Given the description of an element on the screen output the (x, y) to click on. 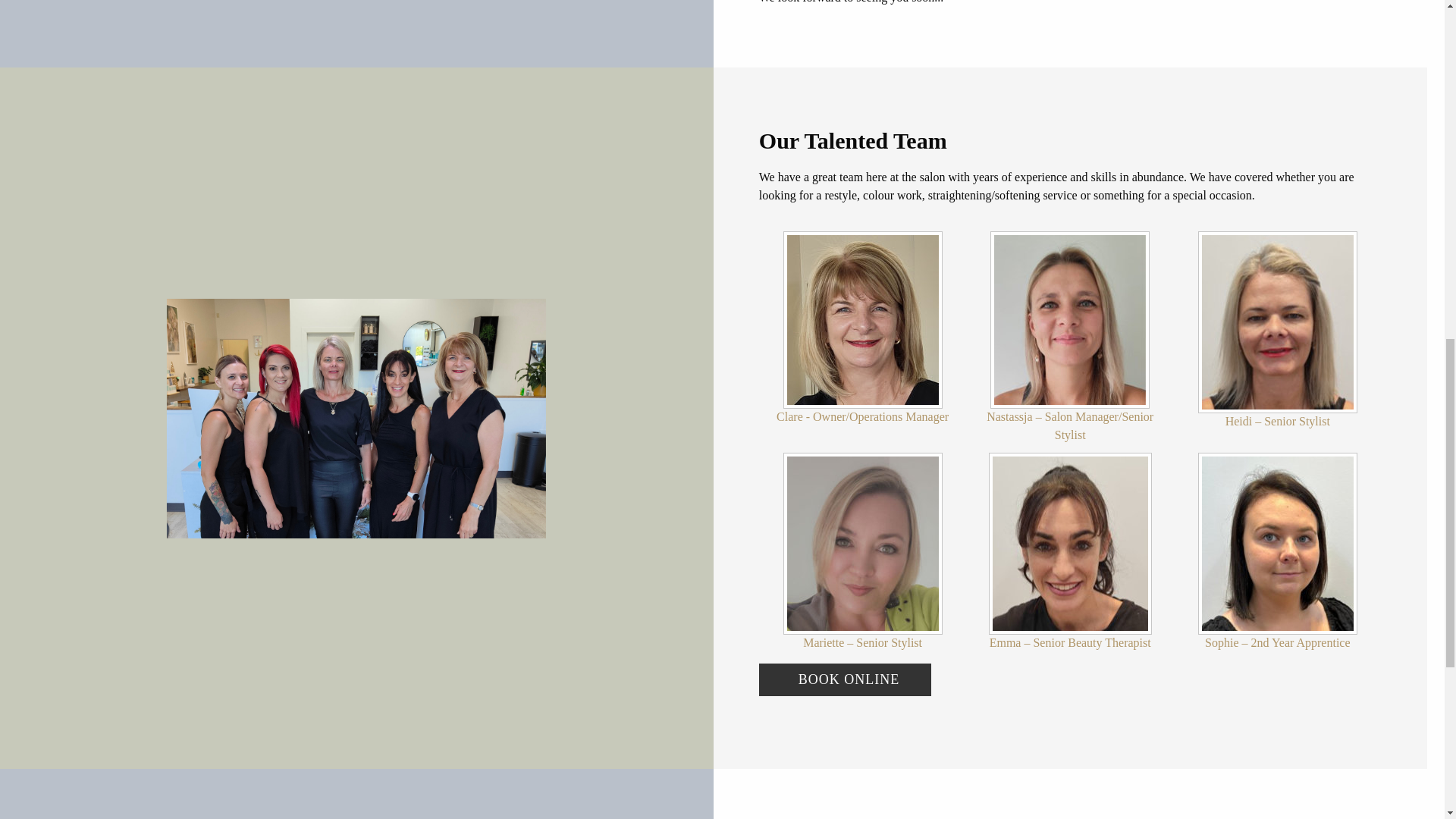
BOOK ONLINE (844, 679)
